Given the description of an element on the screen output the (x, y) to click on. 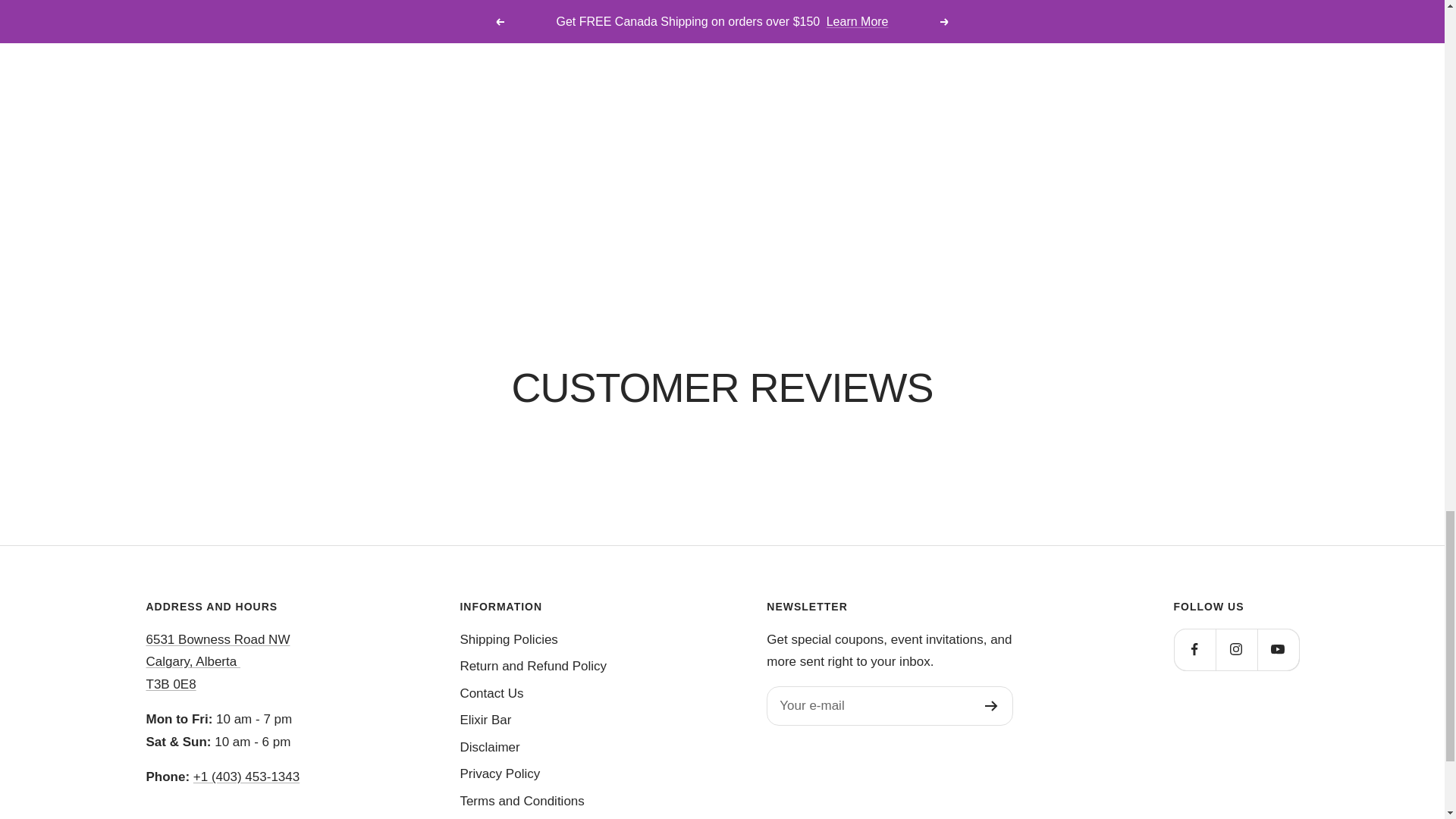
tel:14034531343 (246, 776)
Register (991, 706)
